Given the description of an element on the screen output the (x, y) to click on. 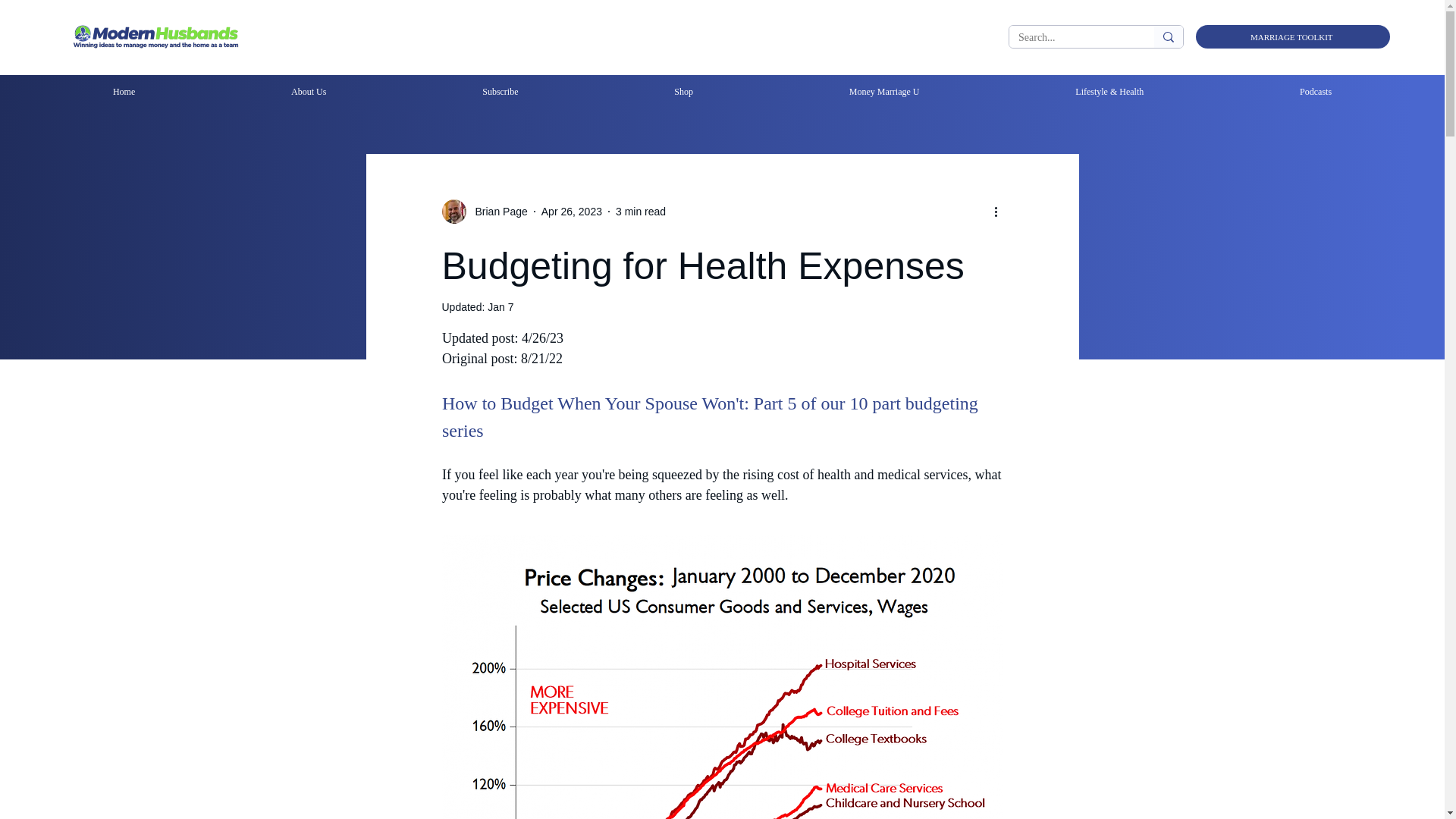
Jan 7 (500, 306)
Brian Page (496, 211)
MARRIAGE TOOLKIT (1292, 36)
Home (123, 91)
3 min read (640, 210)
Apr 26, 2023 (571, 210)
